Given the description of an element on the screen output the (x, y) to click on. 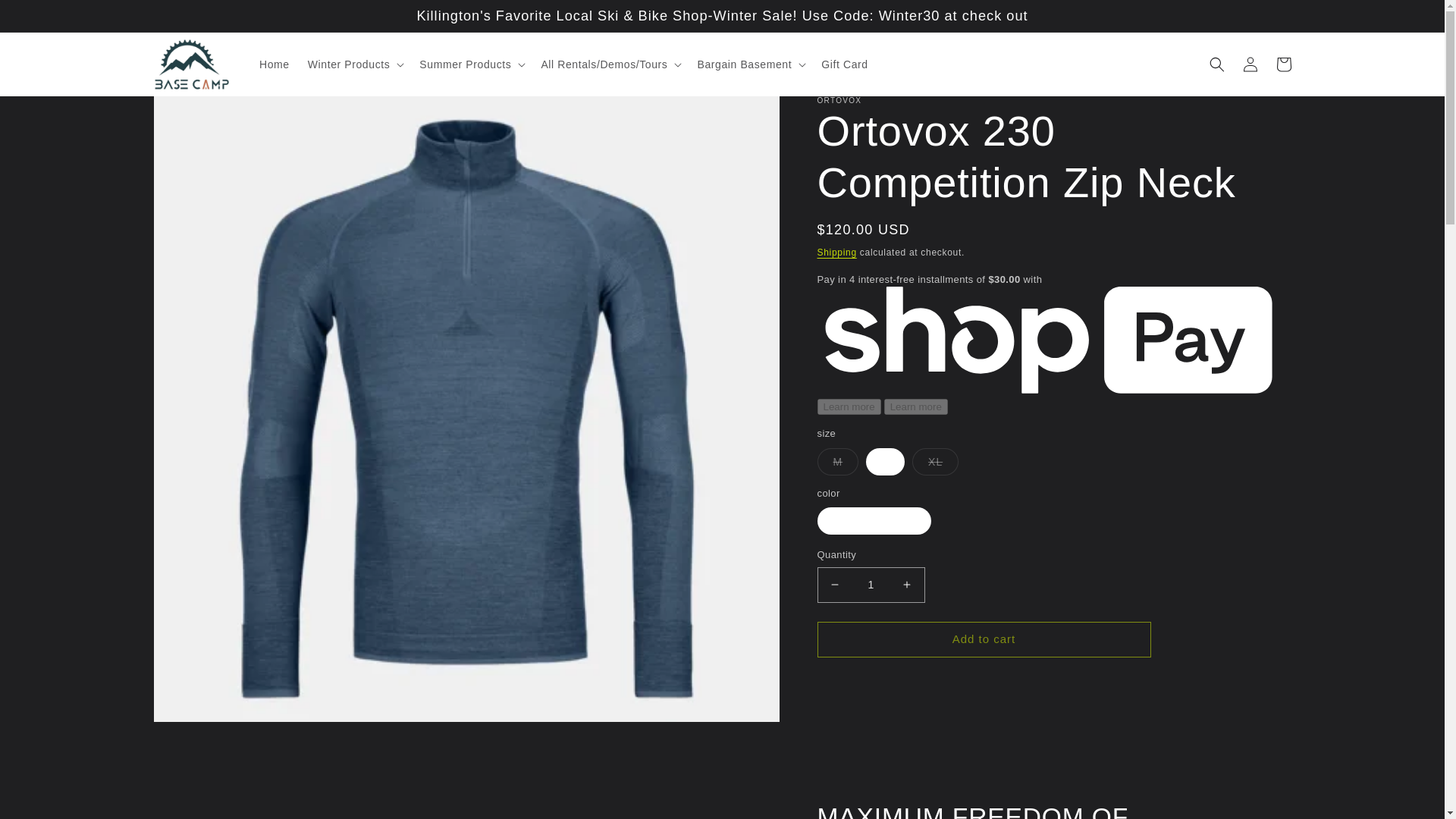
Skip to content (45, 17)
1 (870, 584)
